Given the description of an element on the screen output the (x, y) to click on. 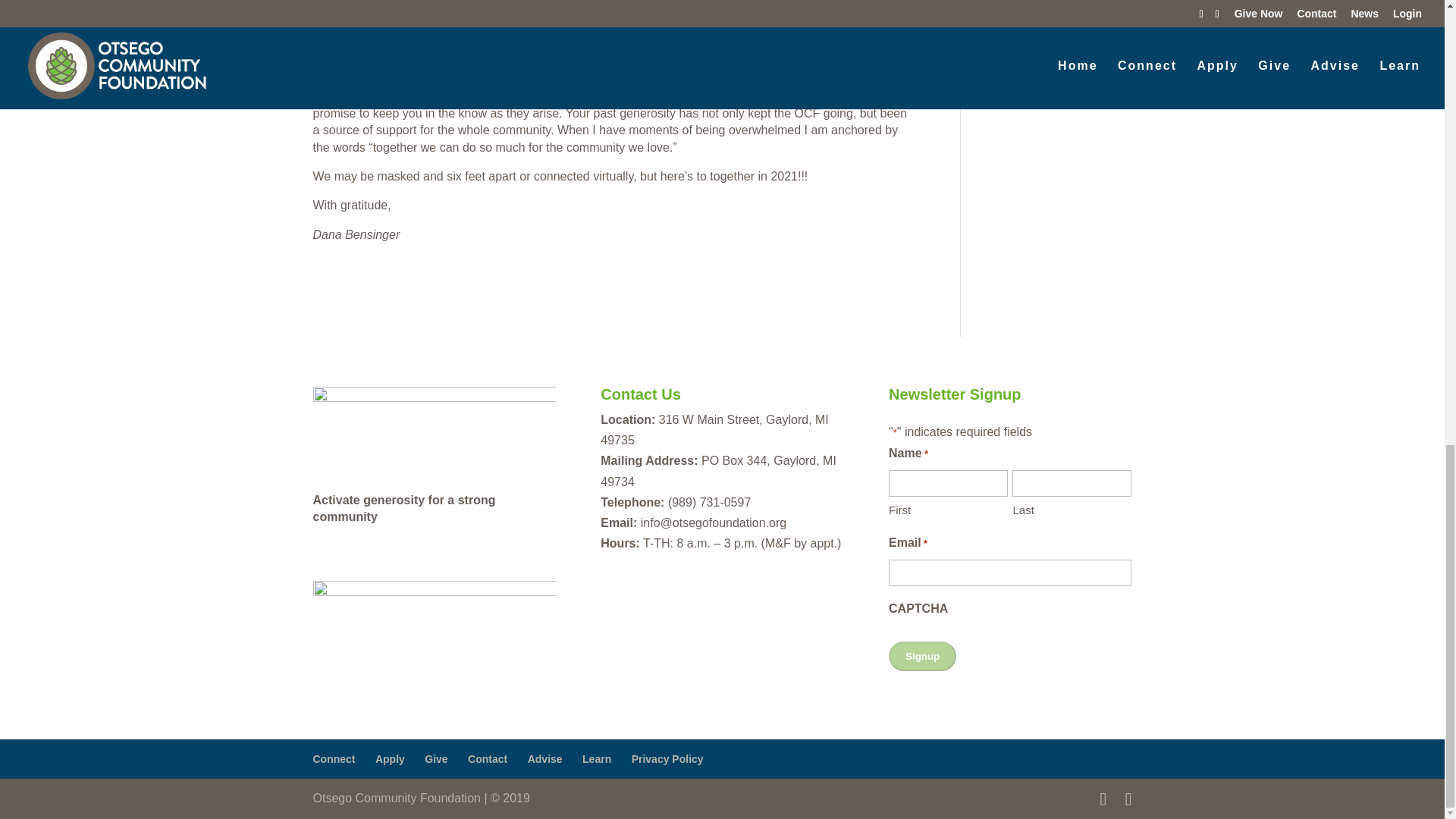
Signup (922, 655)
Privacy Policy (667, 758)
Learn (596, 758)
Advise (544, 758)
Contact (486, 758)
Give (435, 758)
Apply (389, 758)
Signup (922, 655)
Connect (334, 758)
